Given the description of an element on the screen output the (x, y) to click on. 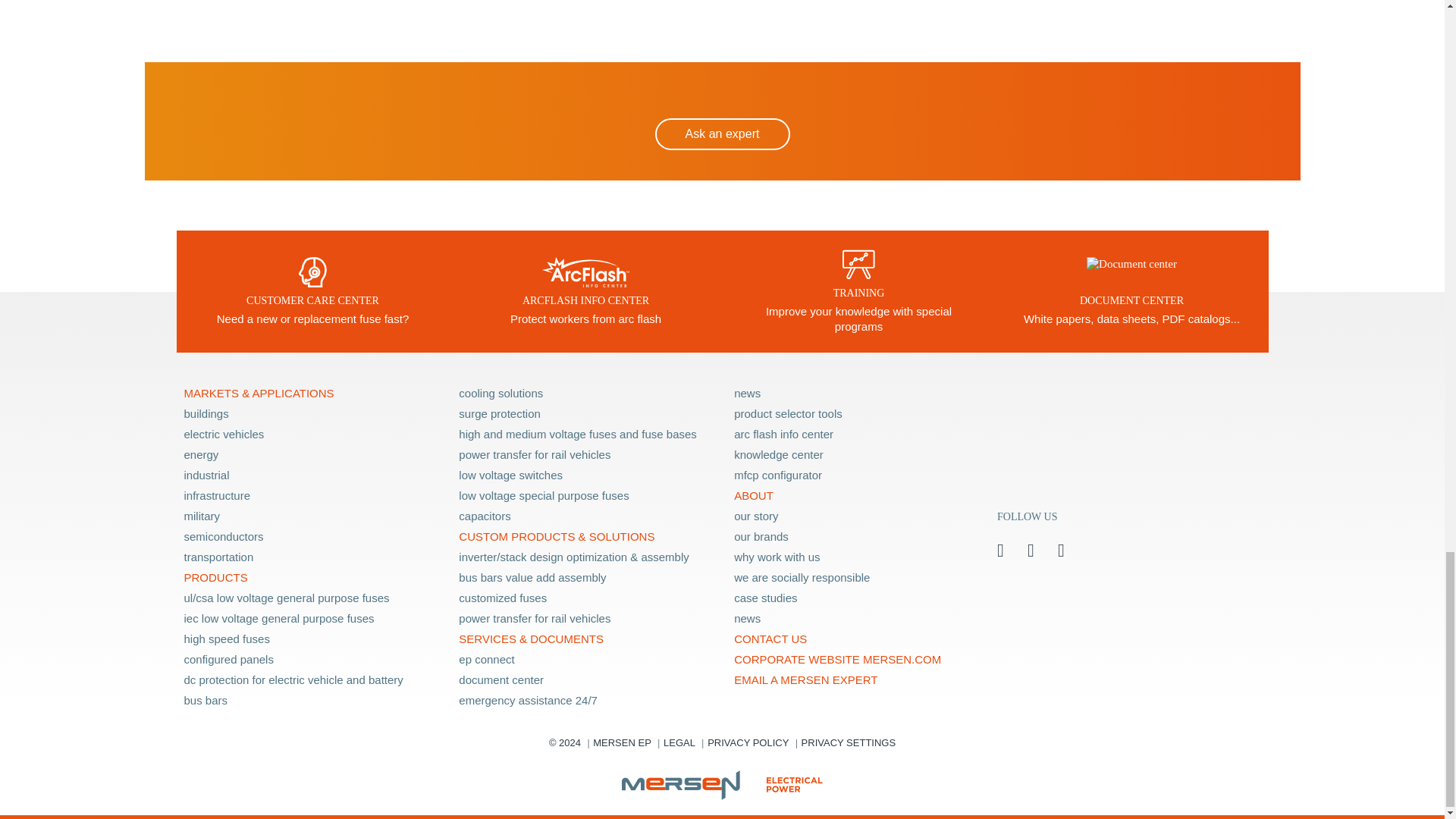
Infrastructure (311, 495)
Energy (311, 454)
Semiconductors (311, 536)
Electric Vehicles (311, 434)
Buildings (311, 413)
Industrial (311, 475)
Military (311, 516)
Transportation (311, 557)
